Given the description of an element on the screen output the (x, y) to click on. 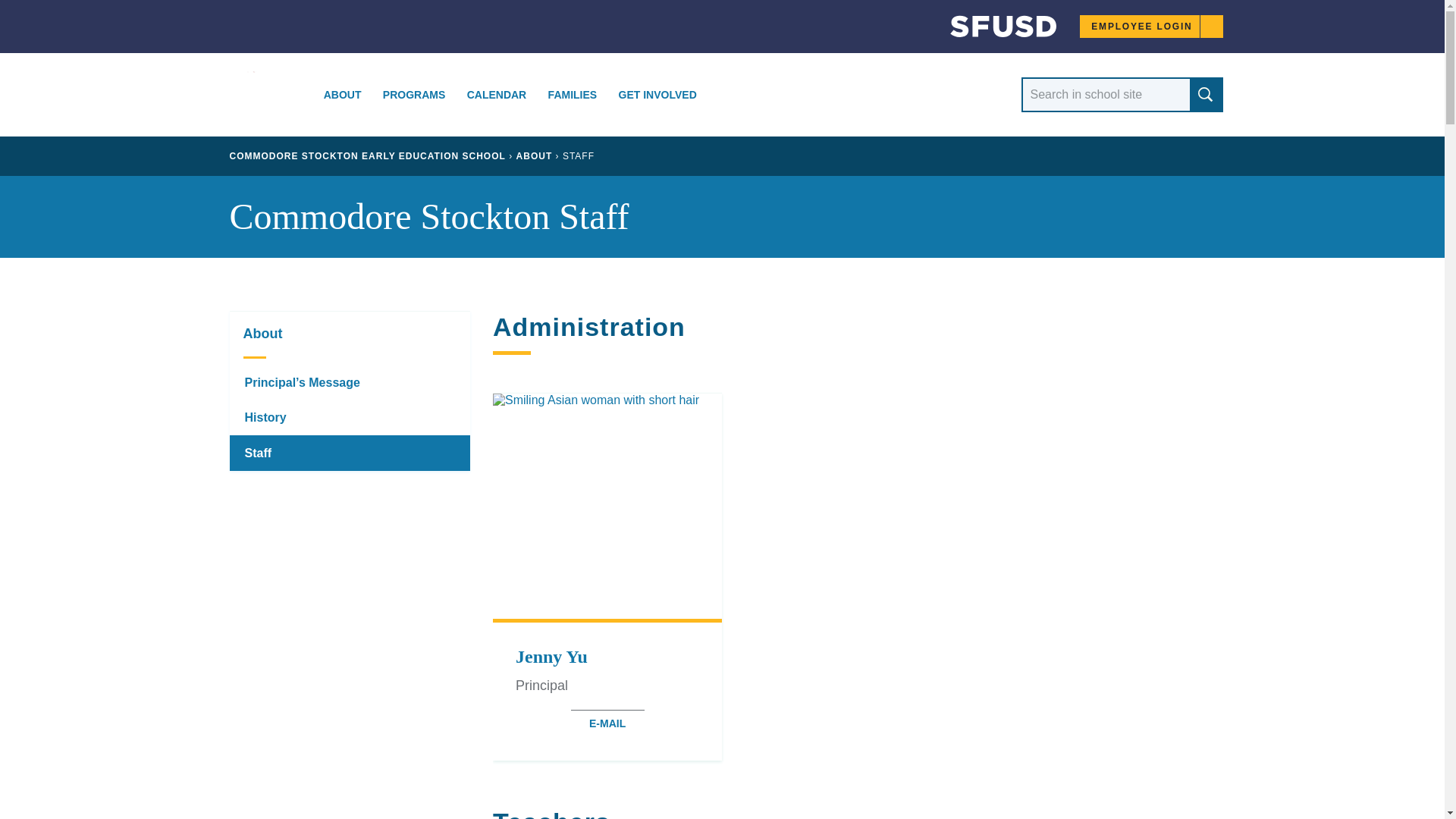
FAMILIES (571, 94)
Home (266, 96)
Search (1205, 94)
PROGRAMS (414, 94)
COMMODORE STOCKTON EARLY EDUCATION SCHOOL (366, 155)
Search (1205, 94)
ABOUT (342, 94)
GET INVOLVED (657, 94)
Commodore Stockton History (349, 417)
CALENDAR (496, 94)
EMPLOYEE LOGIN (1151, 26)
Commodore Stockton Staff (349, 452)
Home (989, 30)
